Given the description of an element on the screen output the (x, y) to click on. 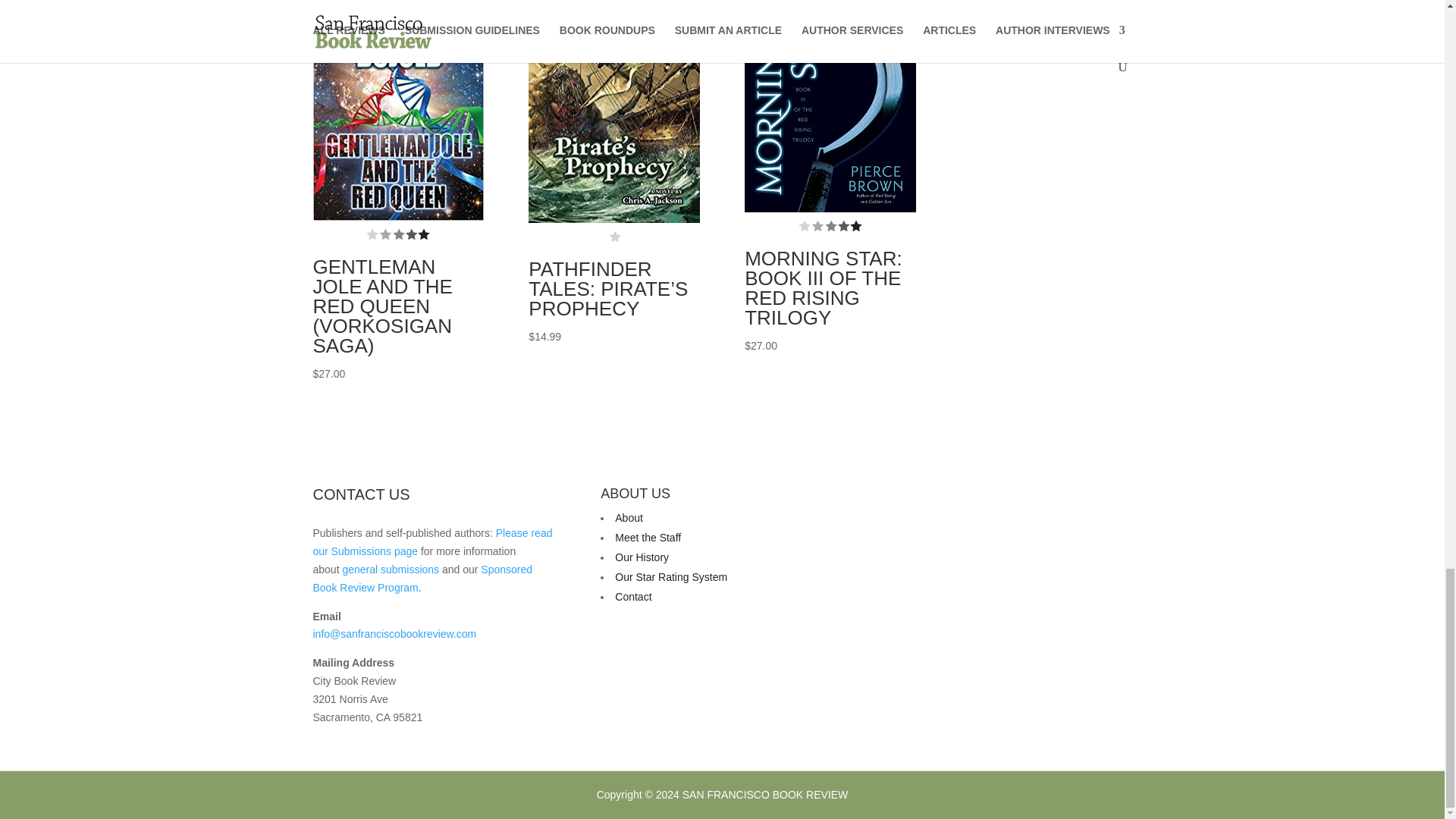
general submissions (390, 569)
Please read our Submissions page (432, 542)
Sponsored Book Review Program (422, 578)
